Given the description of an element on the screen output the (x, y) to click on. 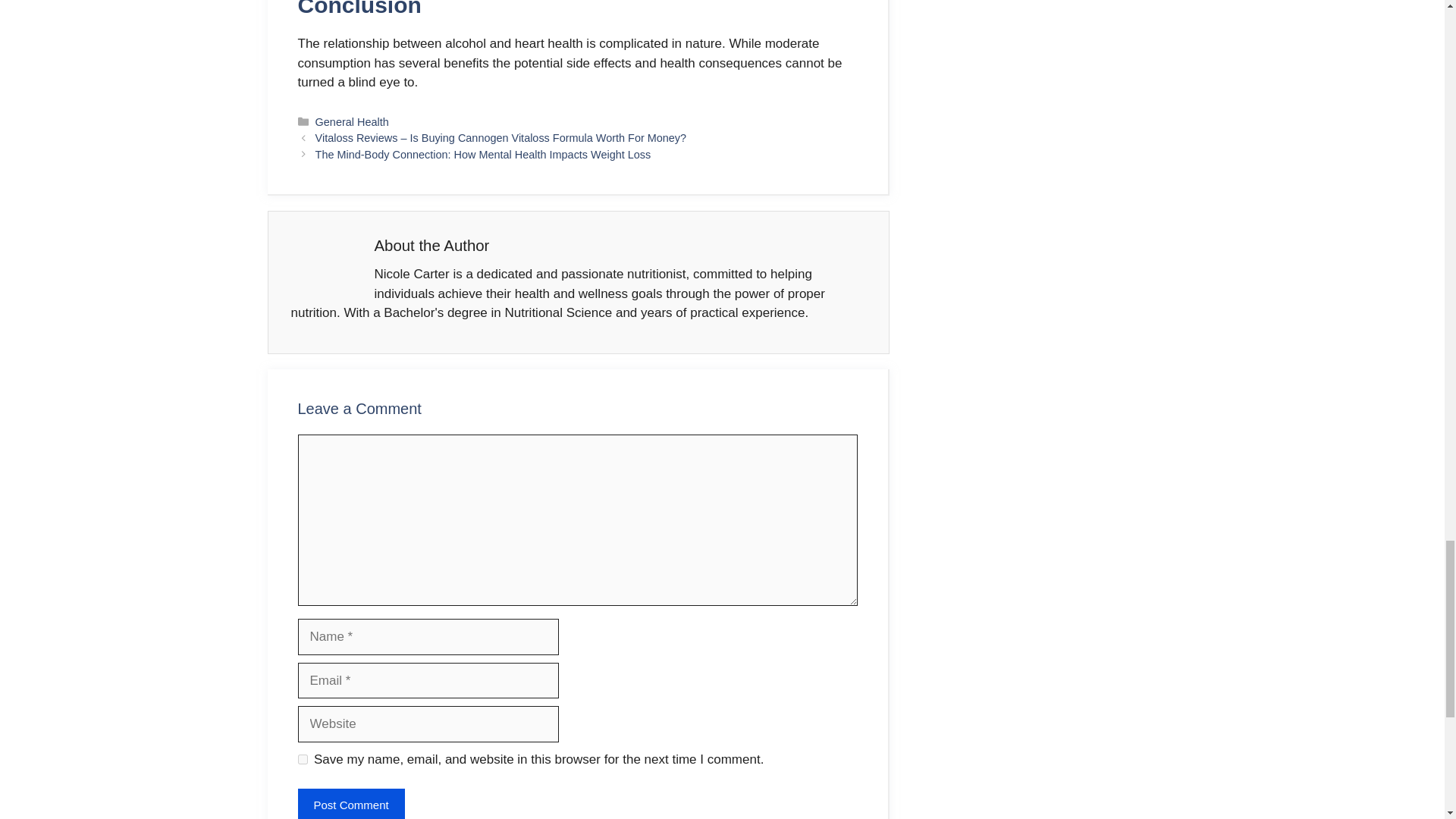
Post Comment (350, 803)
yes (302, 759)
